Given the description of an element on the screen output the (x, y) to click on. 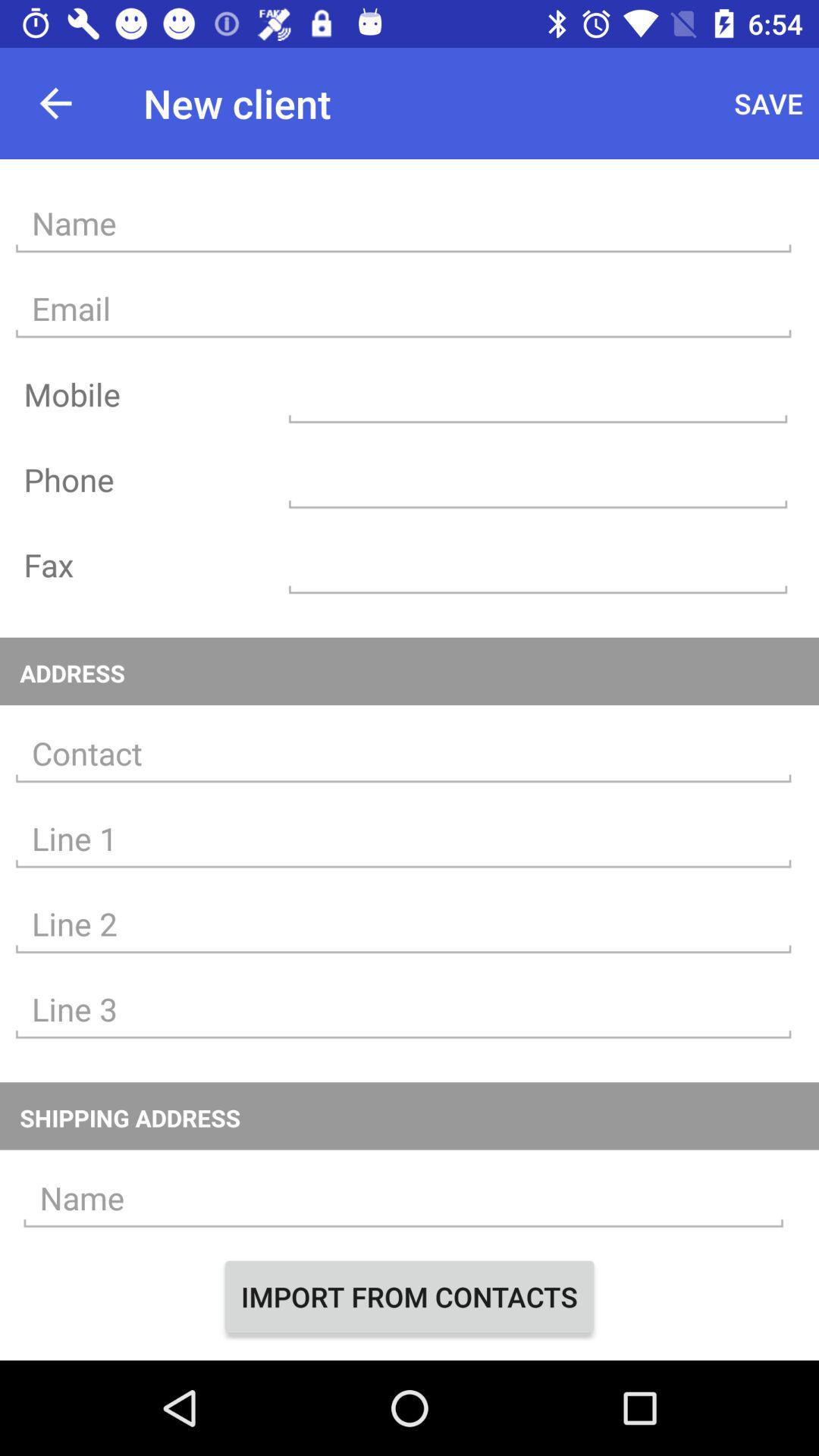
enter e-mail (403, 308)
